Given the description of an element on the screen output the (x, y) to click on. 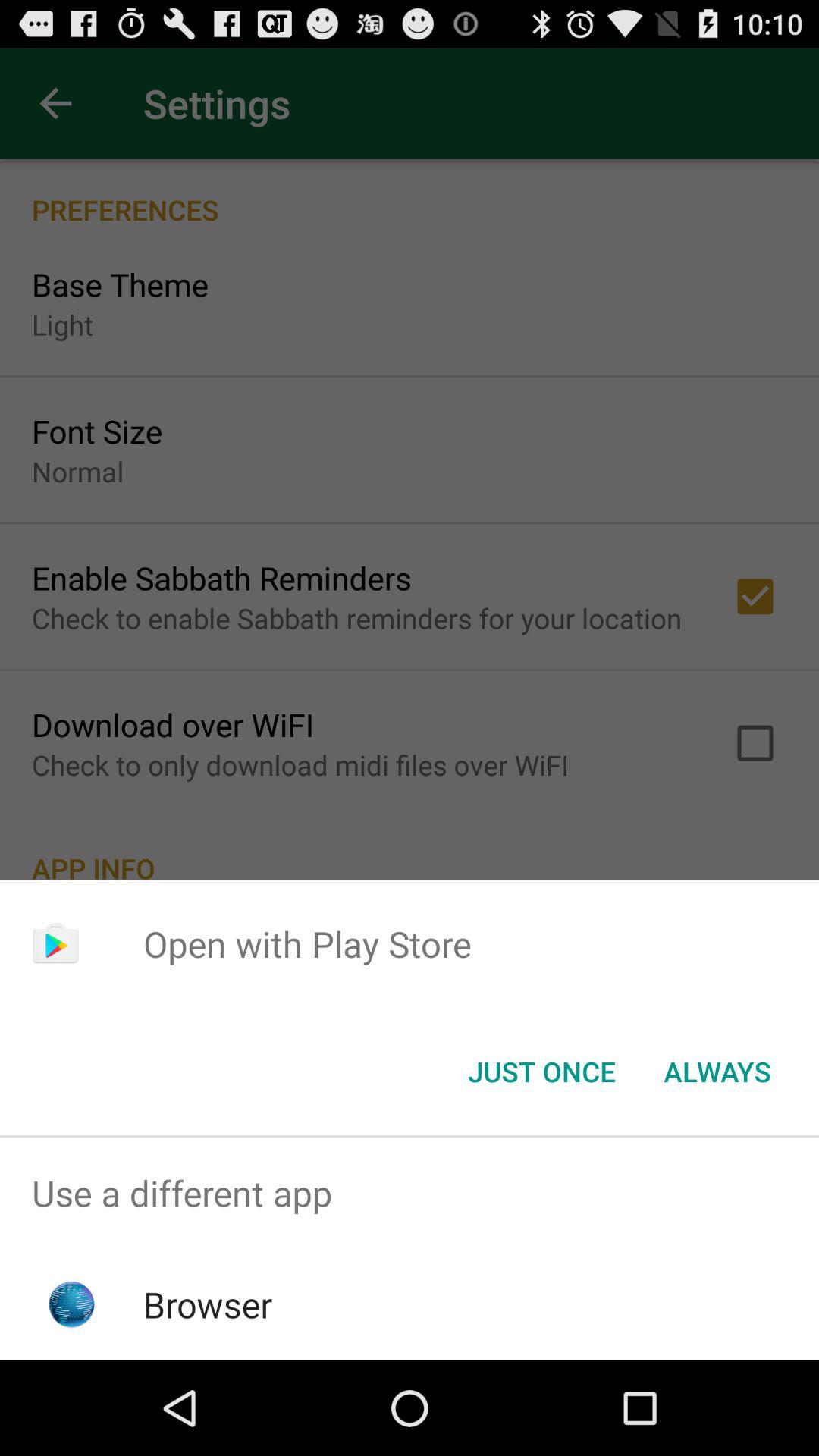
click always (717, 1071)
